Given the description of an element on the screen output the (x, y) to click on. 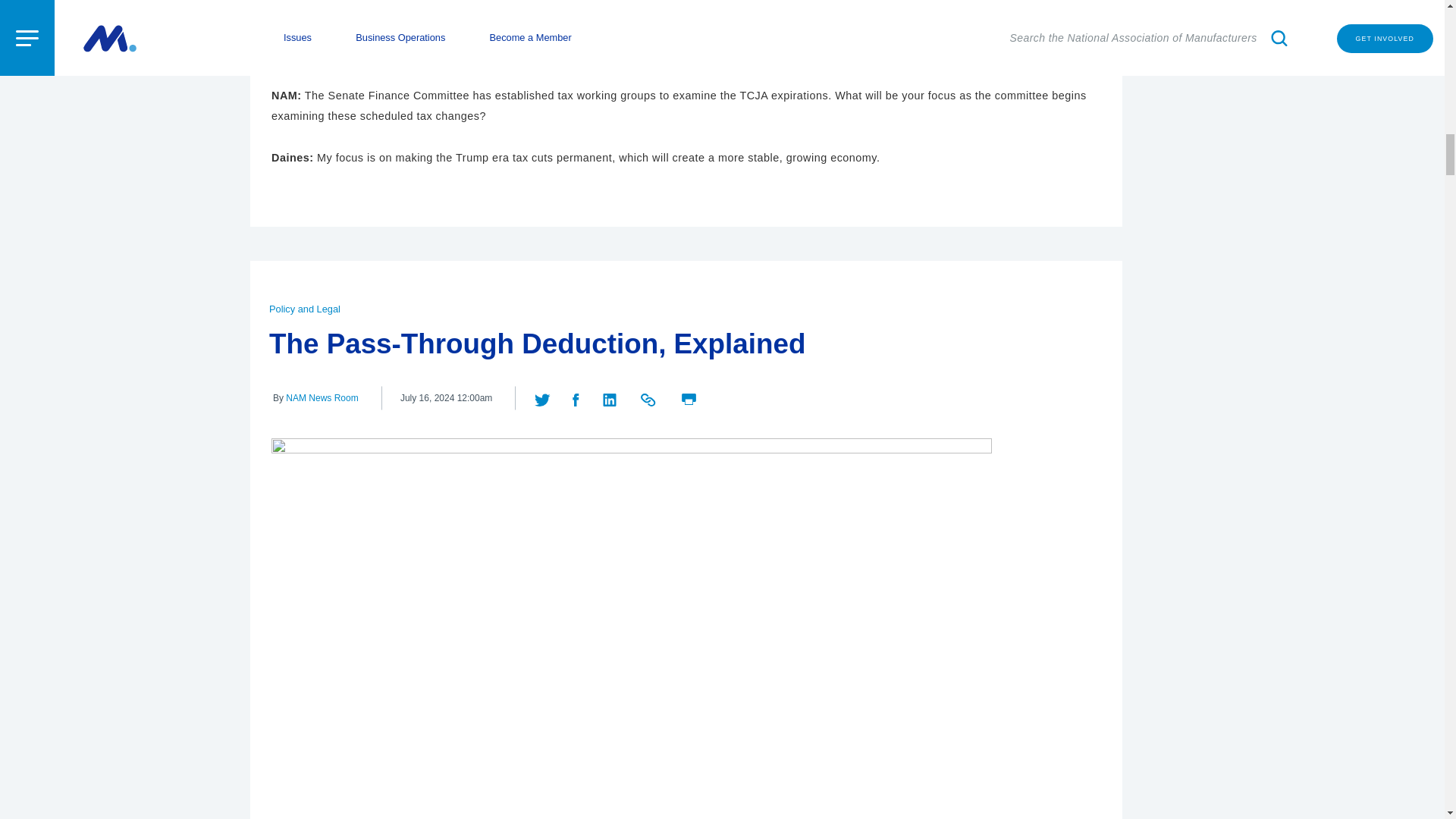
Tuesday, July 16th at 12:00am (446, 398)
